Given the description of an element on the screen output the (x, y) to click on. 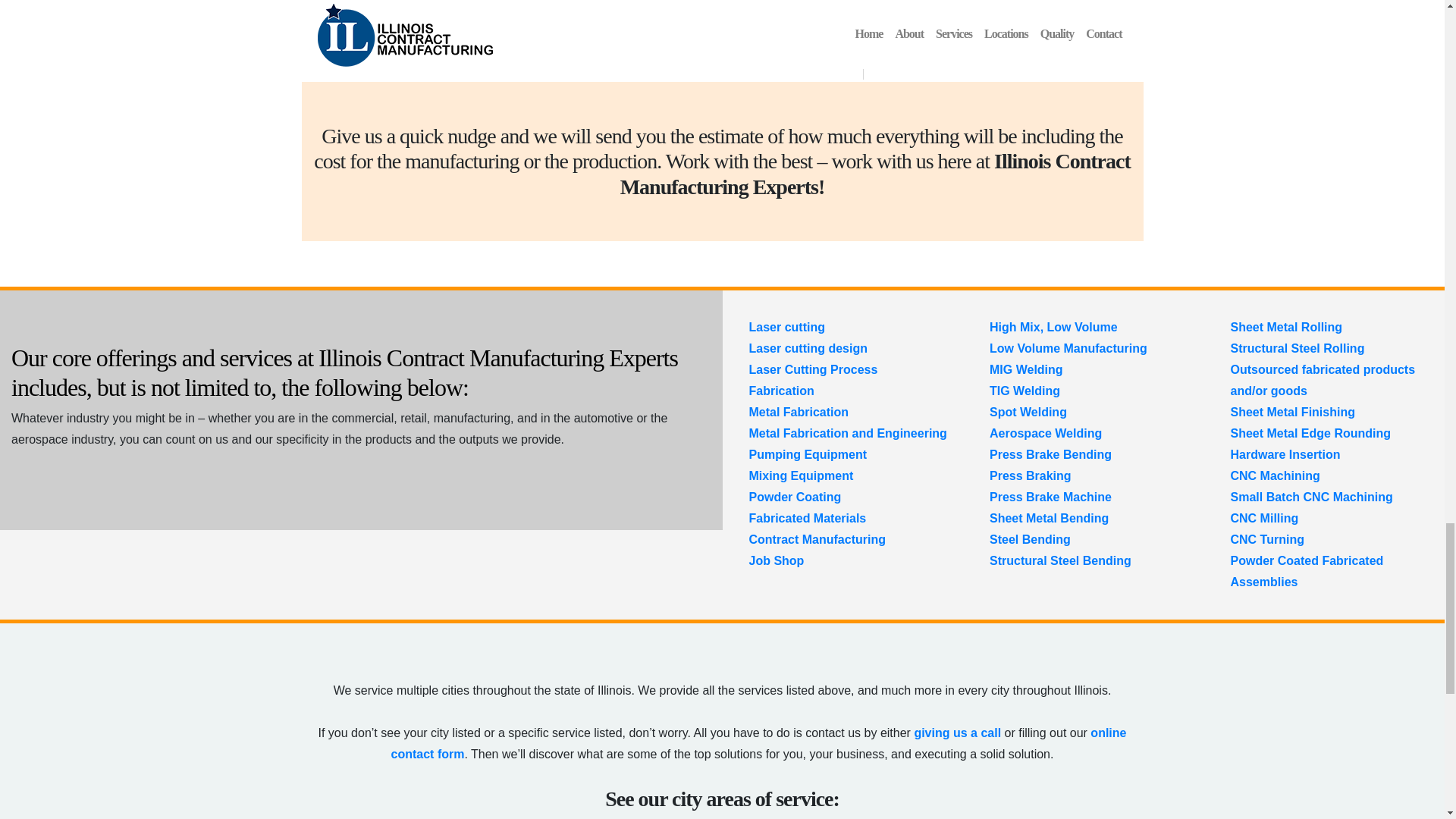
High Mix, Low Volume (1054, 327)
Press Brake Machine (1051, 496)
Press Brake Bending (1051, 454)
Mixing Equipment (801, 475)
Powder Coating (795, 496)
Pumping Equipment (808, 454)
Metal Fabrication (798, 411)
MIG Welding (1026, 369)
Contract Manufacturing (817, 539)
TIG Welding (1024, 390)
